Given the description of an element on the screen output the (x, y) to click on. 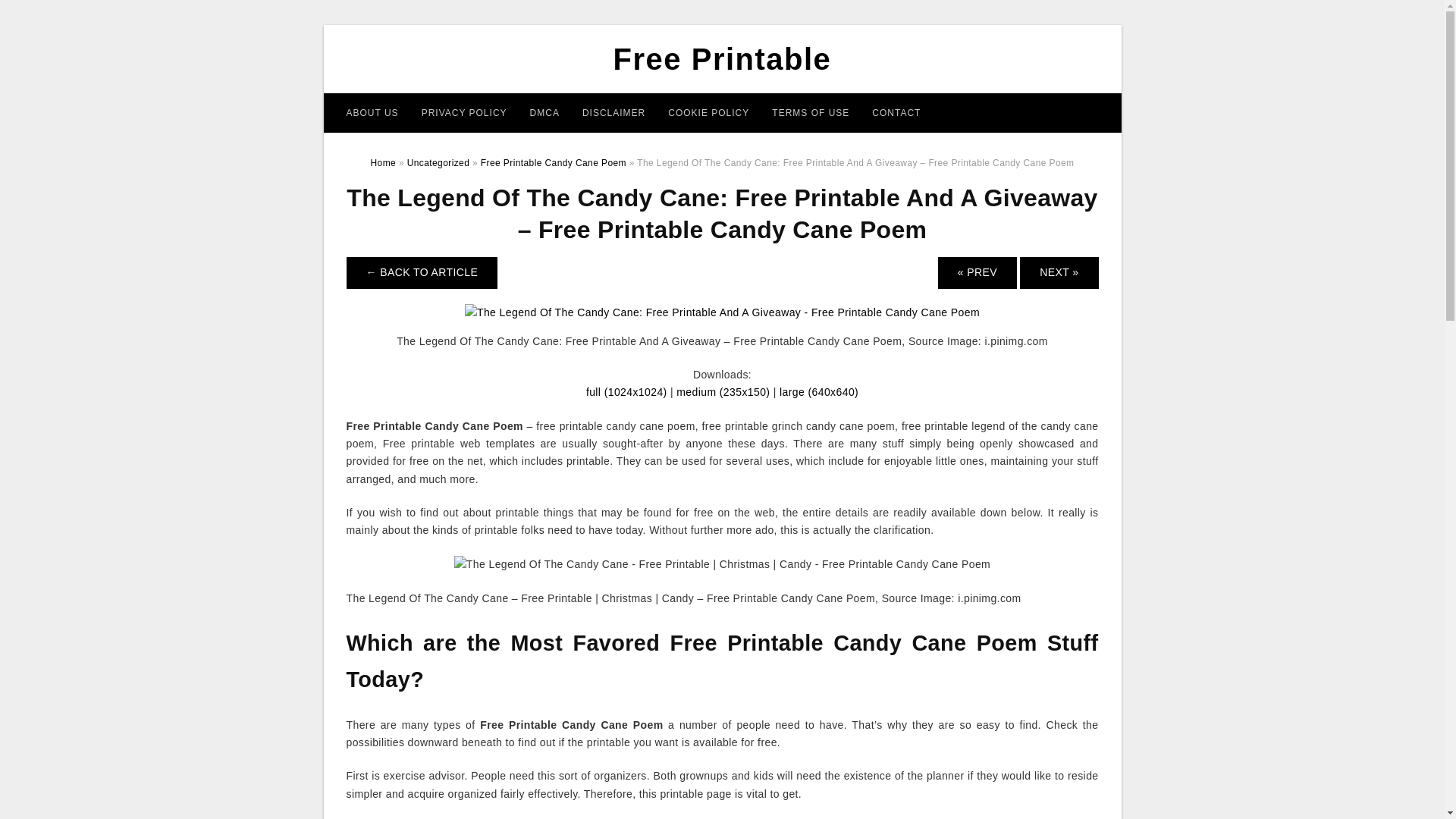
DISCLAIMER (613, 112)
PRIVACY POLICY (464, 112)
CONTACT (895, 112)
Return to Free Printable Candy Cane Poem (421, 272)
Free Printable (721, 59)
Uncategorized (438, 163)
Free Printable Candy Cane Poem (553, 163)
ABOUT US (372, 112)
DMCA (544, 112)
COOKIE POLICY (708, 112)
TERMS OF USE (810, 112)
Home (383, 163)
